Given the description of an element on the screen output the (x, y) to click on. 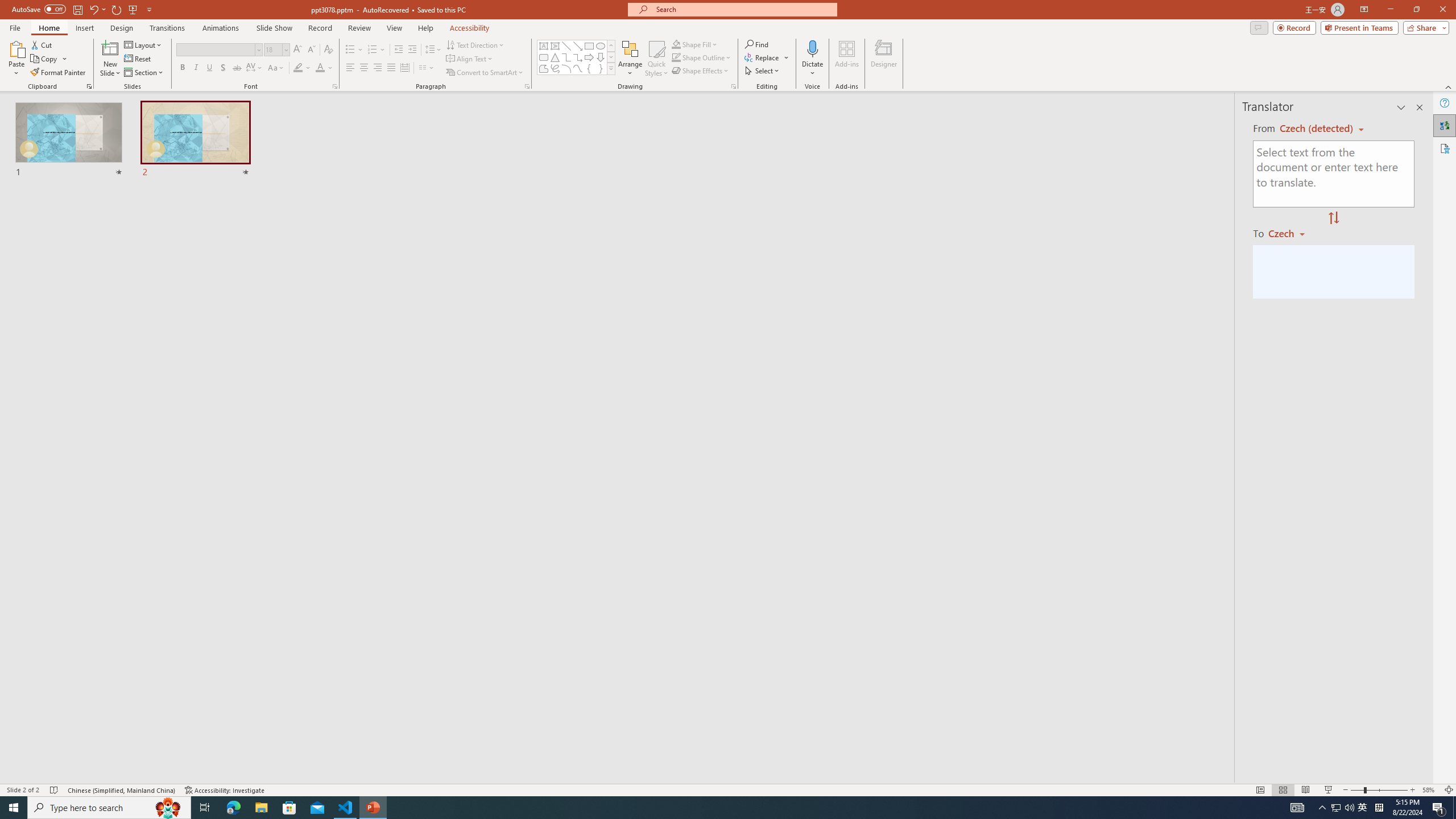
Font (215, 49)
Restore Down (1416, 9)
Microsoft search (742, 9)
Spell Check No Errors (54, 790)
Align Right (377, 67)
Reset (138, 58)
Bold (182, 67)
Character Spacing (254, 67)
Italic (195, 67)
Arrow: Down (600, 57)
Slide Sorter (1282, 790)
Freeform: Scribble (554, 68)
Bullets (354, 49)
Design (122, 28)
Dictate (812, 58)
